Given the description of an element on the screen output the (x, y) to click on. 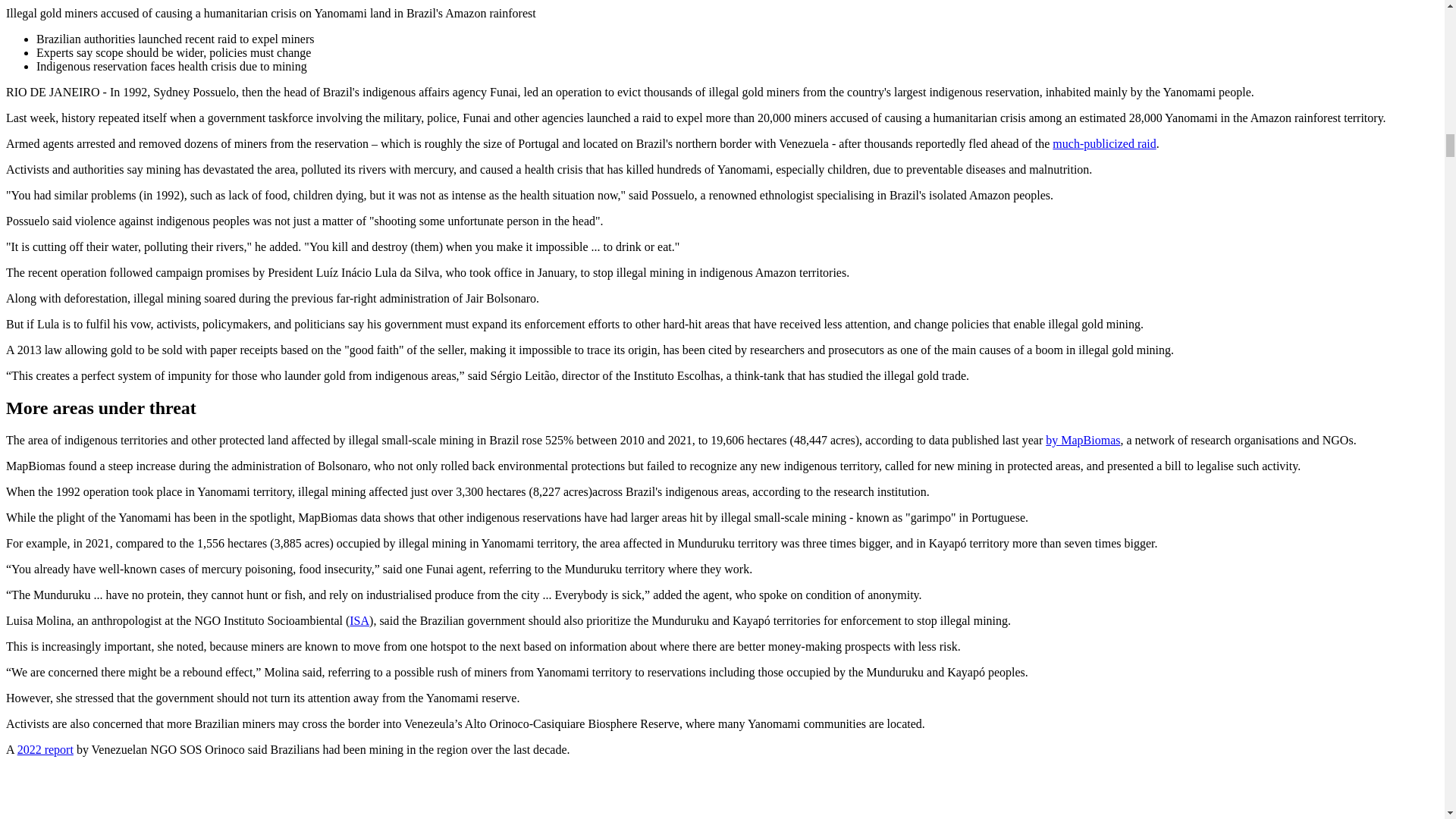
much-publicized raid (1104, 143)
by MapBiomas (1082, 440)
ISA (359, 620)
2022 report (45, 748)
